Given the description of an element on the screen output the (x, y) to click on. 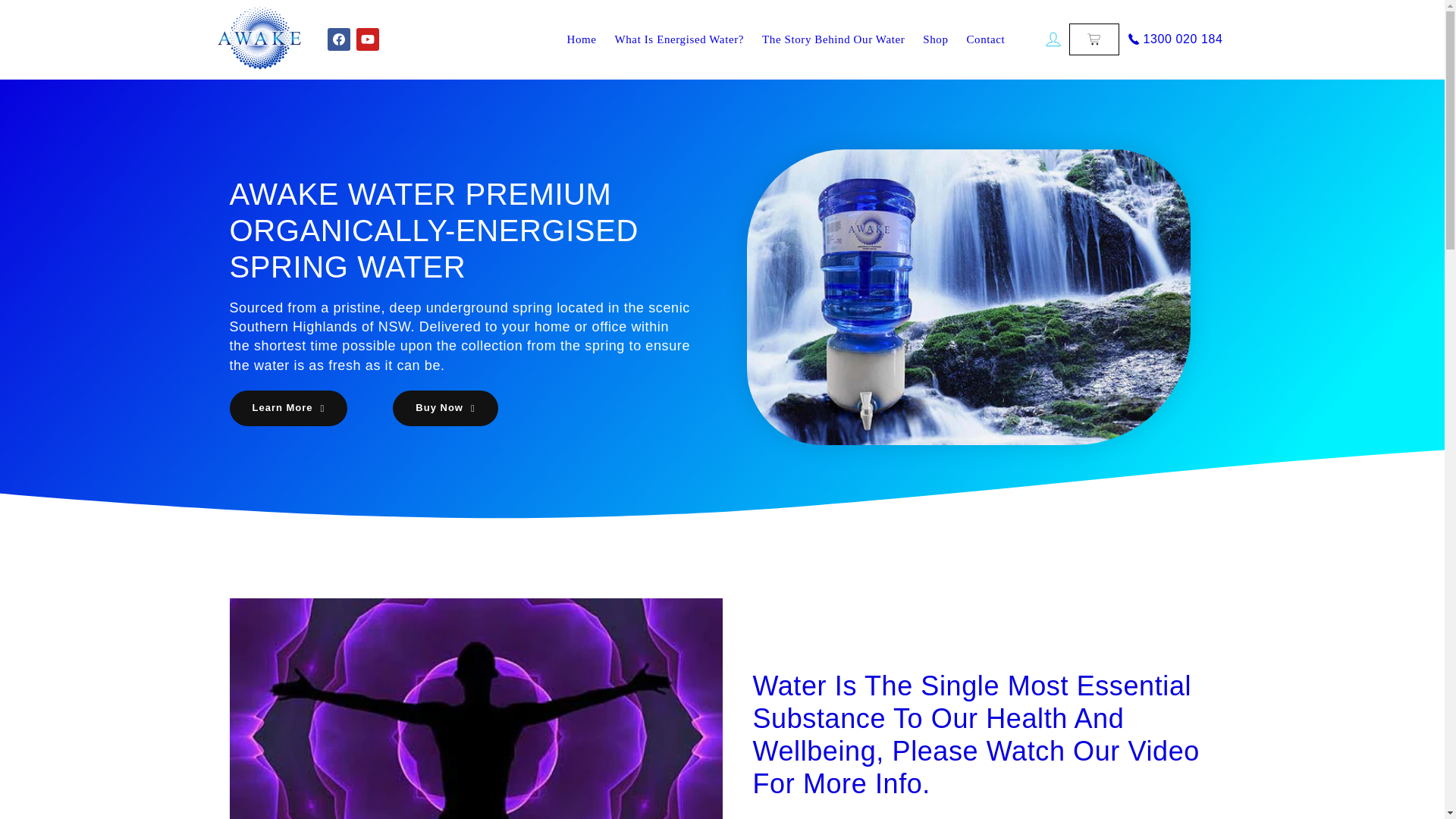
Contact (986, 39)
Shop (935, 39)
Home (581, 39)
Log in (1053, 39)
Cart (1093, 39)
What Is Energised Water? (679, 39)
Buy Now (445, 407)
The Story Behind Our Water (833, 39)
Learn More (287, 407)
1300 020 184 (1173, 39)
Skip to content (45, 17)
